Given the description of an element on the screen output the (x, y) to click on. 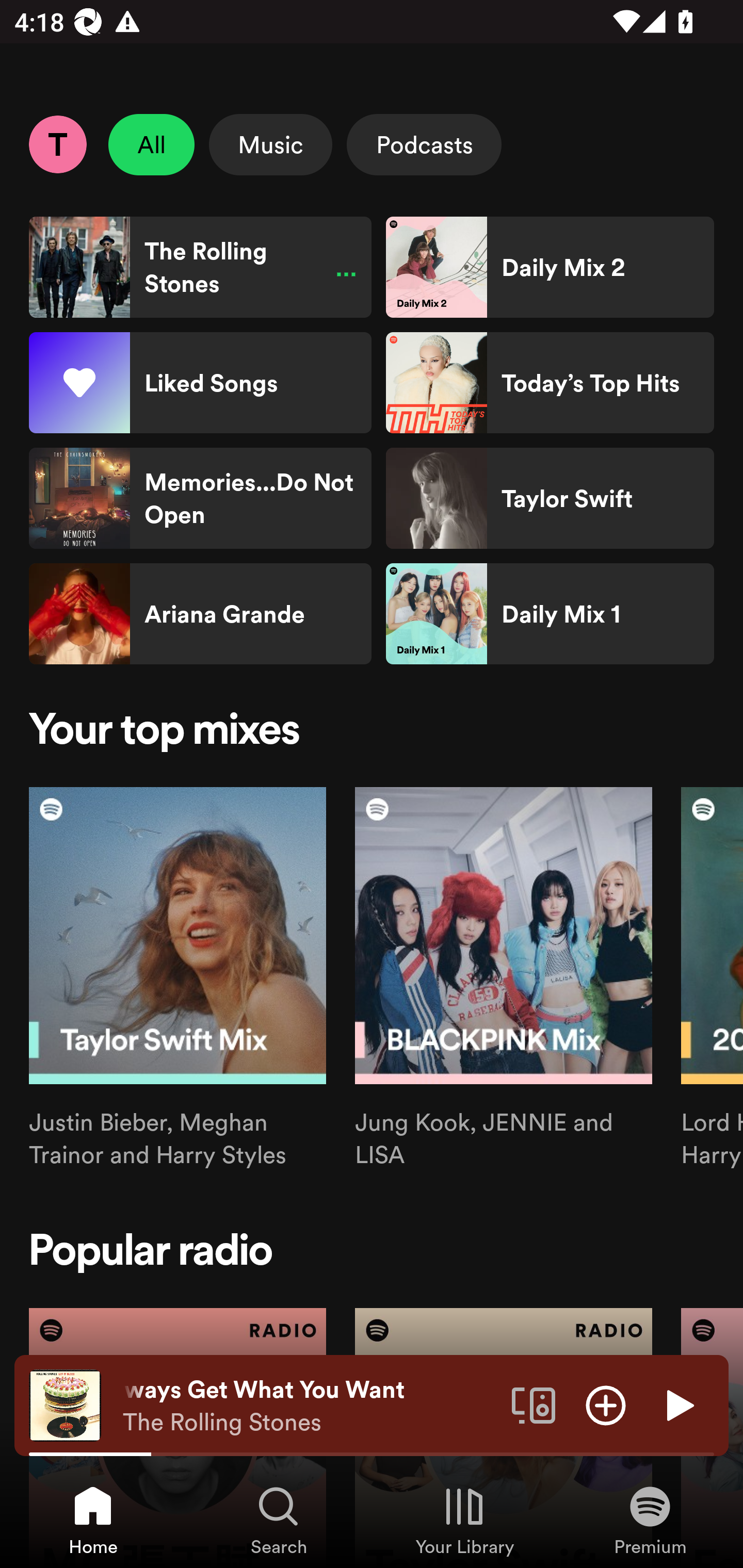
Profile (57, 144)
All Unselect All (151, 144)
Music Select Music (270, 144)
Podcasts Select Podcasts (423, 144)
Daily Mix 2 Shortcut Daily Mix 2 (549, 267)
Liked Songs Shortcut Liked Songs (199, 382)
Today’s Top Hits Shortcut Today’s Top Hits (549, 382)
Taylor Swift Shortcut Taylor Swift (549, 498)
Ariana Grande Shortcut Ariana Grande (199, 613)
Daily Mix 1 Shortcut Daily Mix 1 (549, 613)
The cover art of the currently playing track (64, 1404)
Connect to a device. Opens the devices menu (533, 1404)
Add item (605, 1404)
Play (677, 1404)
Home, Tab 1 of 4 Home Home (92, 1519)
Search, Tab 2 of 4 Search Search (278, 1519)
Your Library, Tab 3 of 4 Your Library Your Library (464, 1519)
Premium, Tab 4 of 4 Premium Premium (650, 1519)
